Given the description of an element on the screen output the (x, y) to click on. 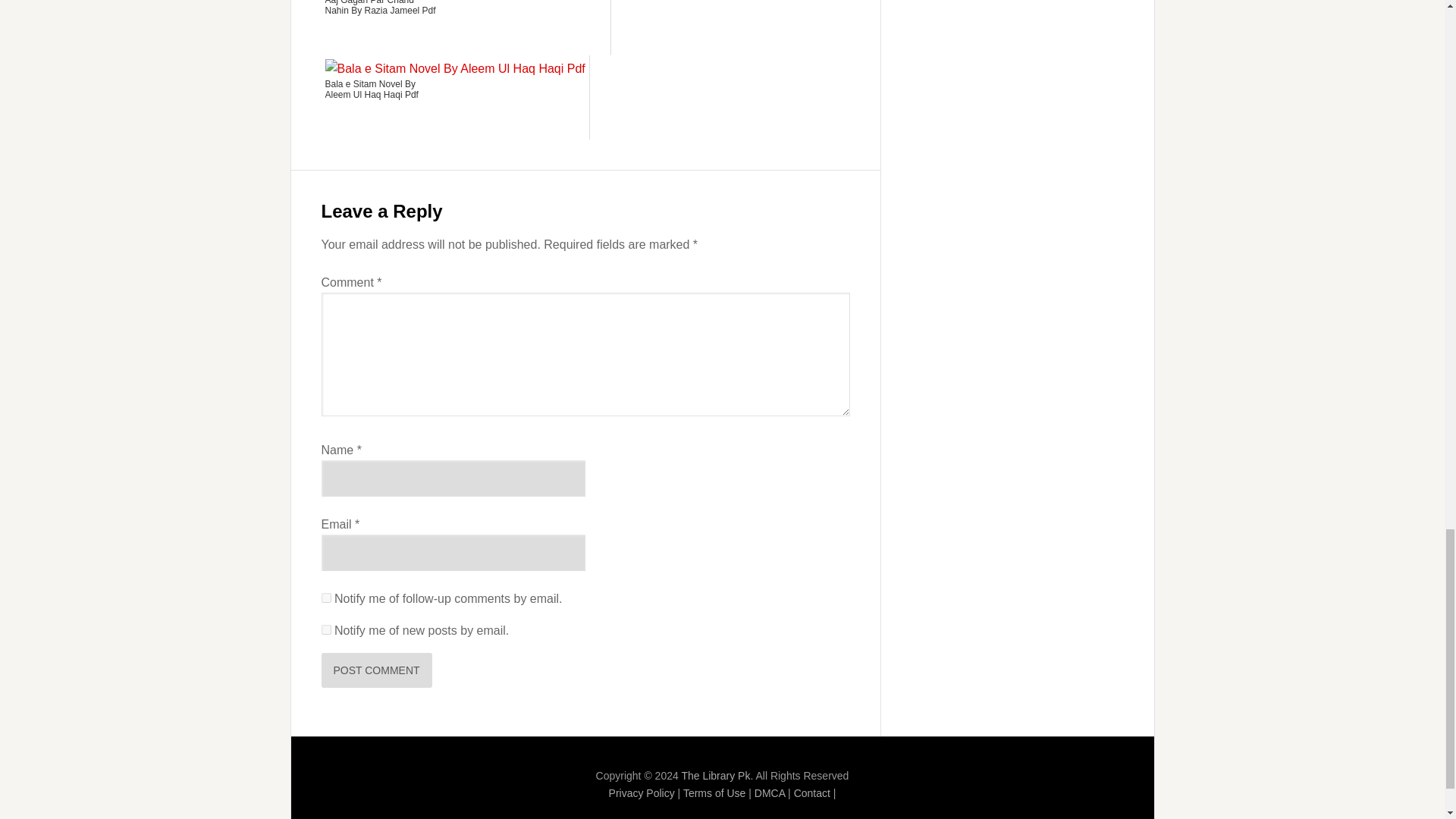
subscribe (326, 629)
subscribe (326, 597)
Post Comment (376, 669)
